Given the description of an element on the screen output the (x, y) to click on. 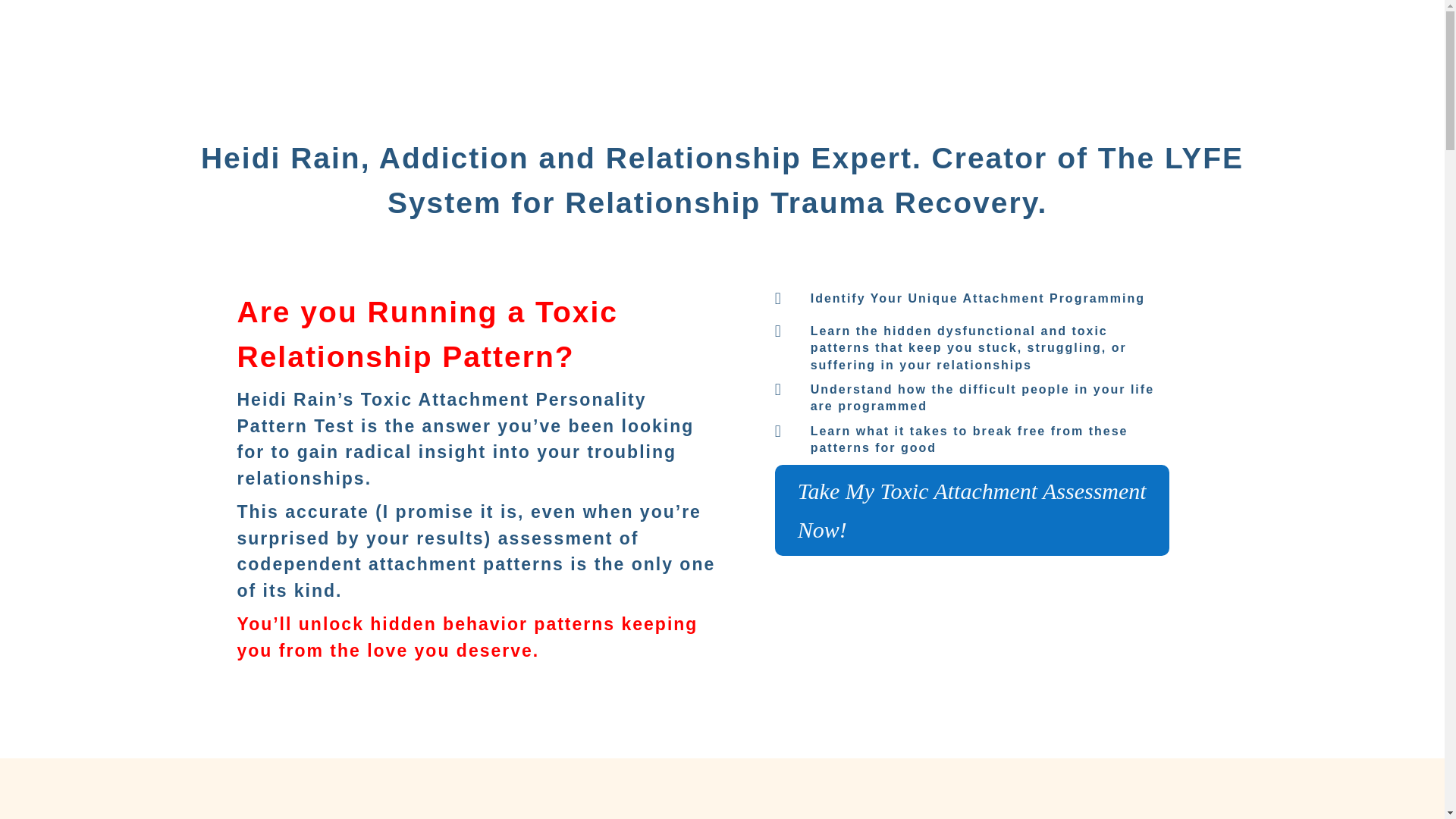
Take My Toxic Attachment Assessment Now! (972, 510)
